Given the description of an element on the screen output the (x, y) to click on. 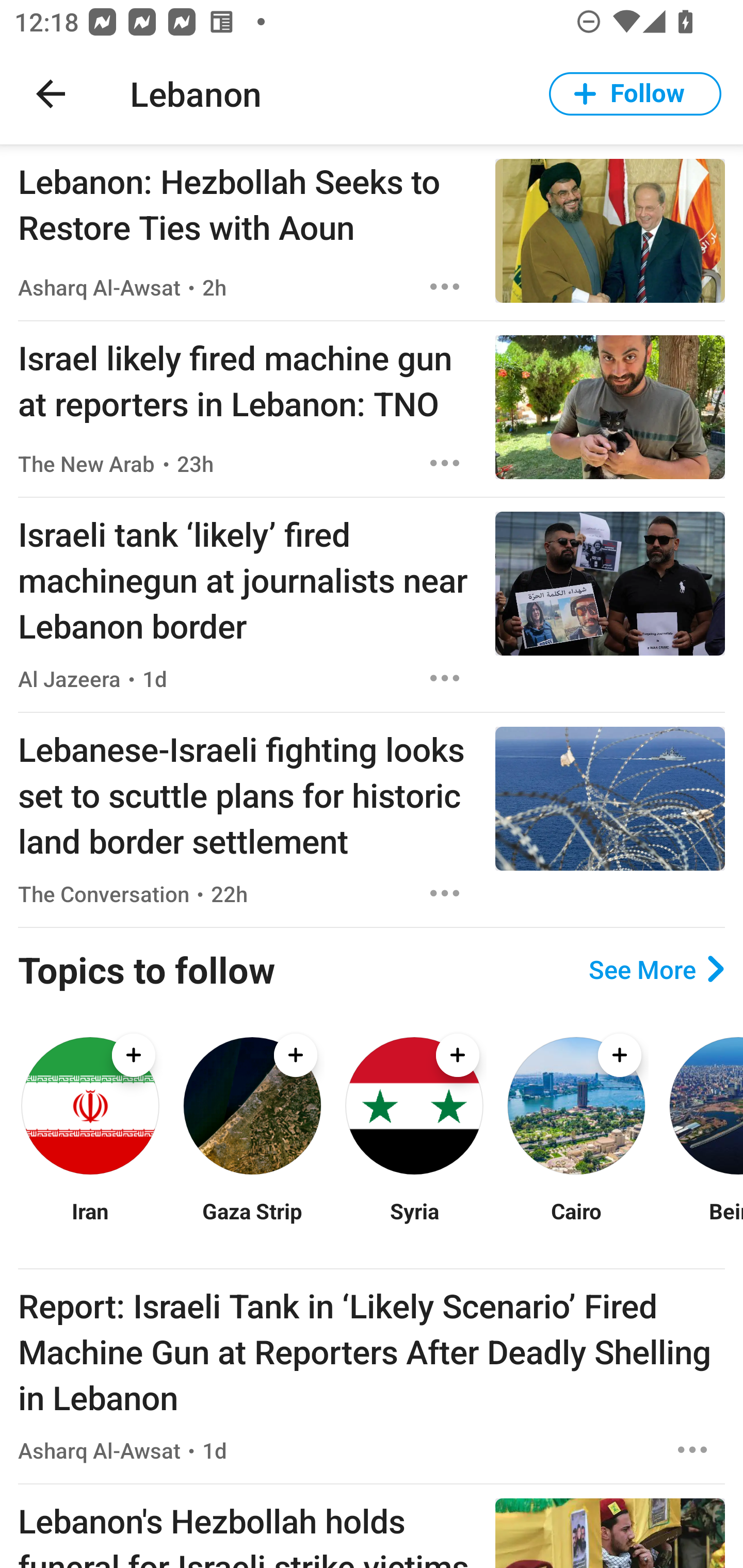
Navigate up (50, 93)
Follow (635, 94)
Options (444, 286)
Options (444, 463)
Options (444, 677)
Options (444, 893)
See More (656, 968)
Iran (89, 1223)
Gaza Strip (251, 1223)
Syria (413, 1223)
Cairo (575, 1223)
Options (692, 1449)
